Given the description of an element on the screen output the (x, y) to click on. 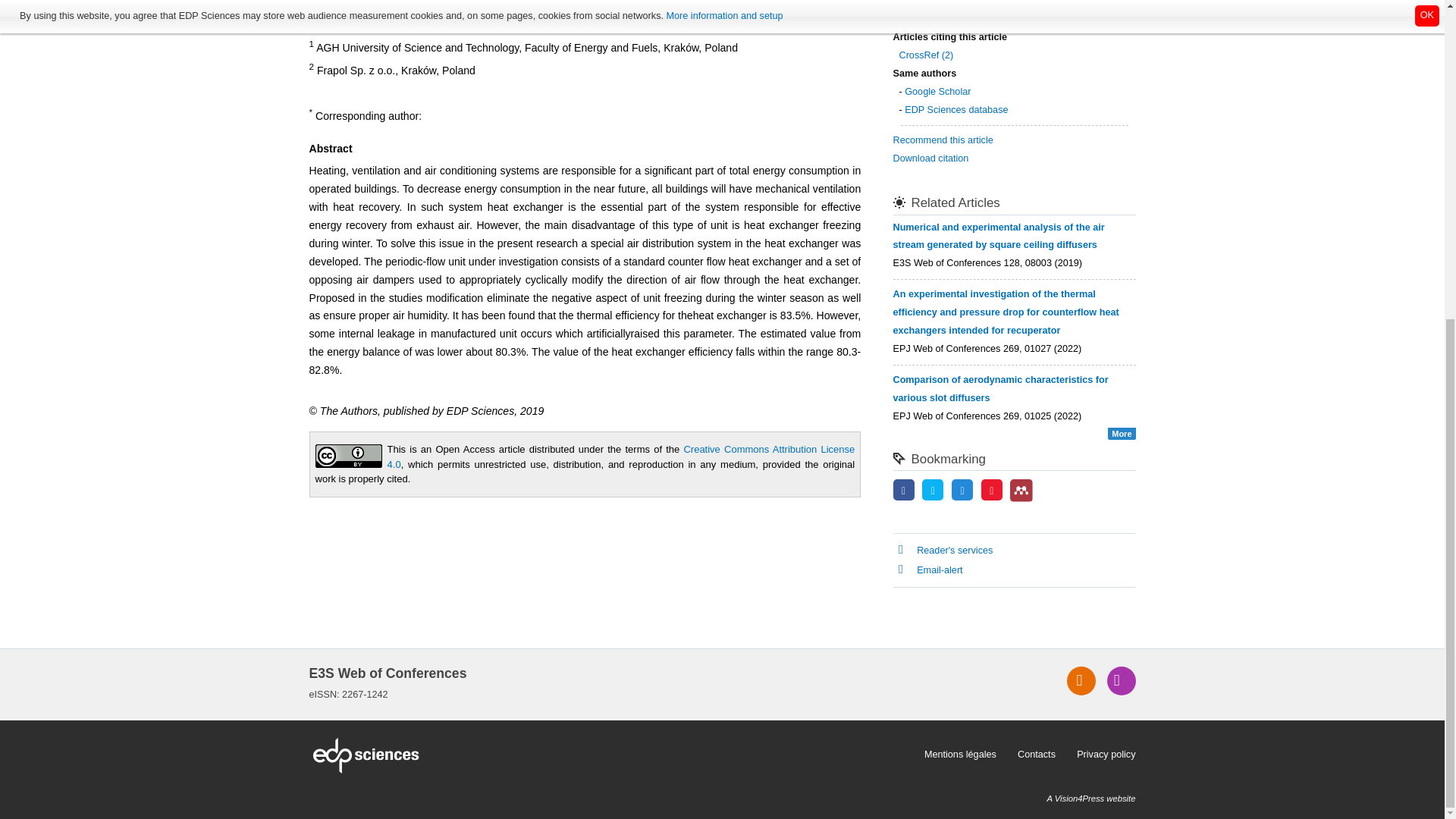
Mendeley (1021, 490)
